Given the description of an element on the screen output the (x, y) to click on. 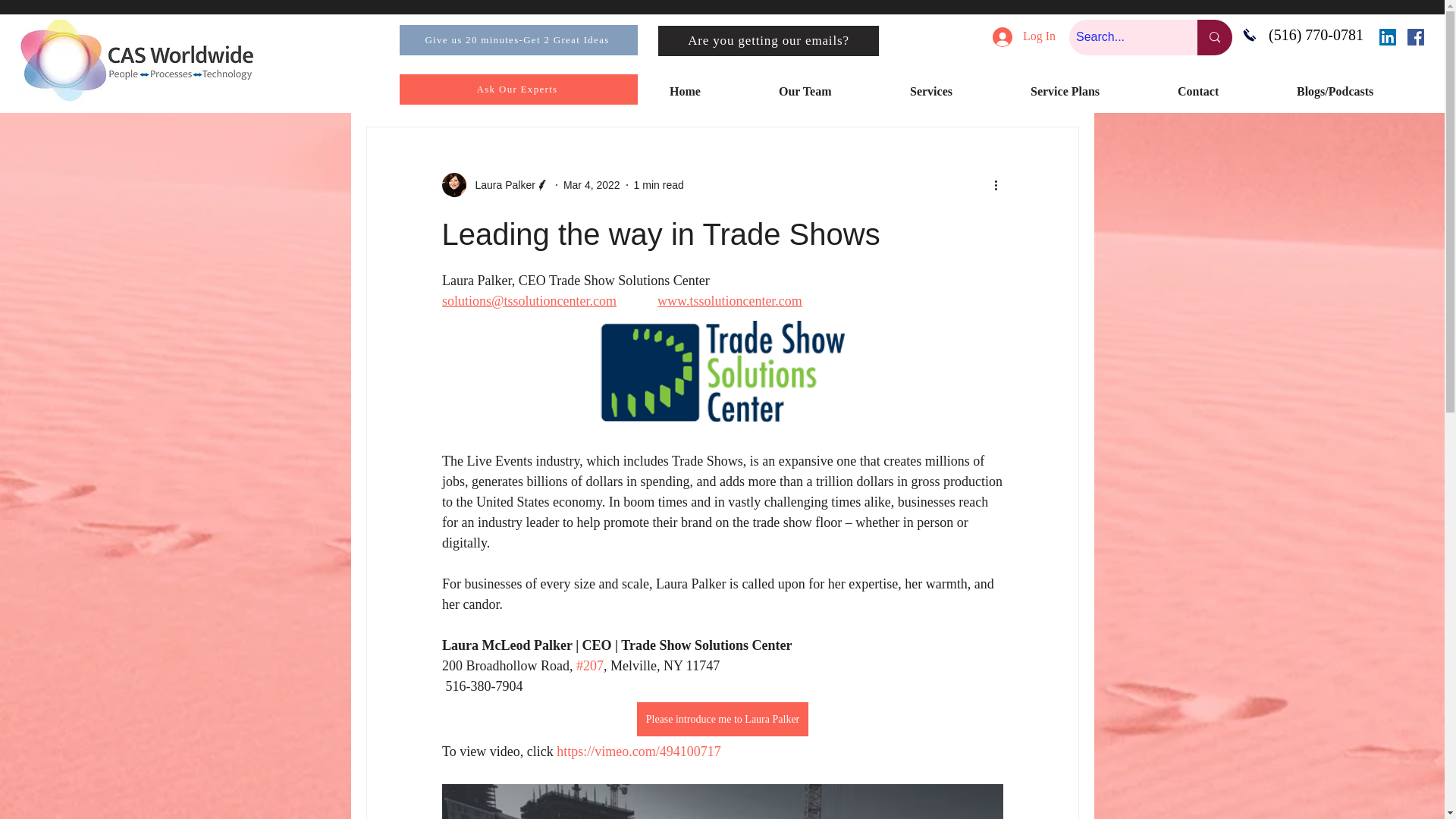
Are you getting our emails? (768, 40)
Please introduce me to Laura Palker (722, 718)
Laura Palker (494, 184)
Give us 20 minutes-Get 2 Great Ideas (517, 40)
Home (712, 91)
Mar 4, 2022 (591, 184)
www.tssolutioncenter.com (730, 300)
Contact (1225, 91)
Laura Palker (499, 185)
1 min read (658, 184)
